Given the description of an element on the screen output the (x, y) to click on. 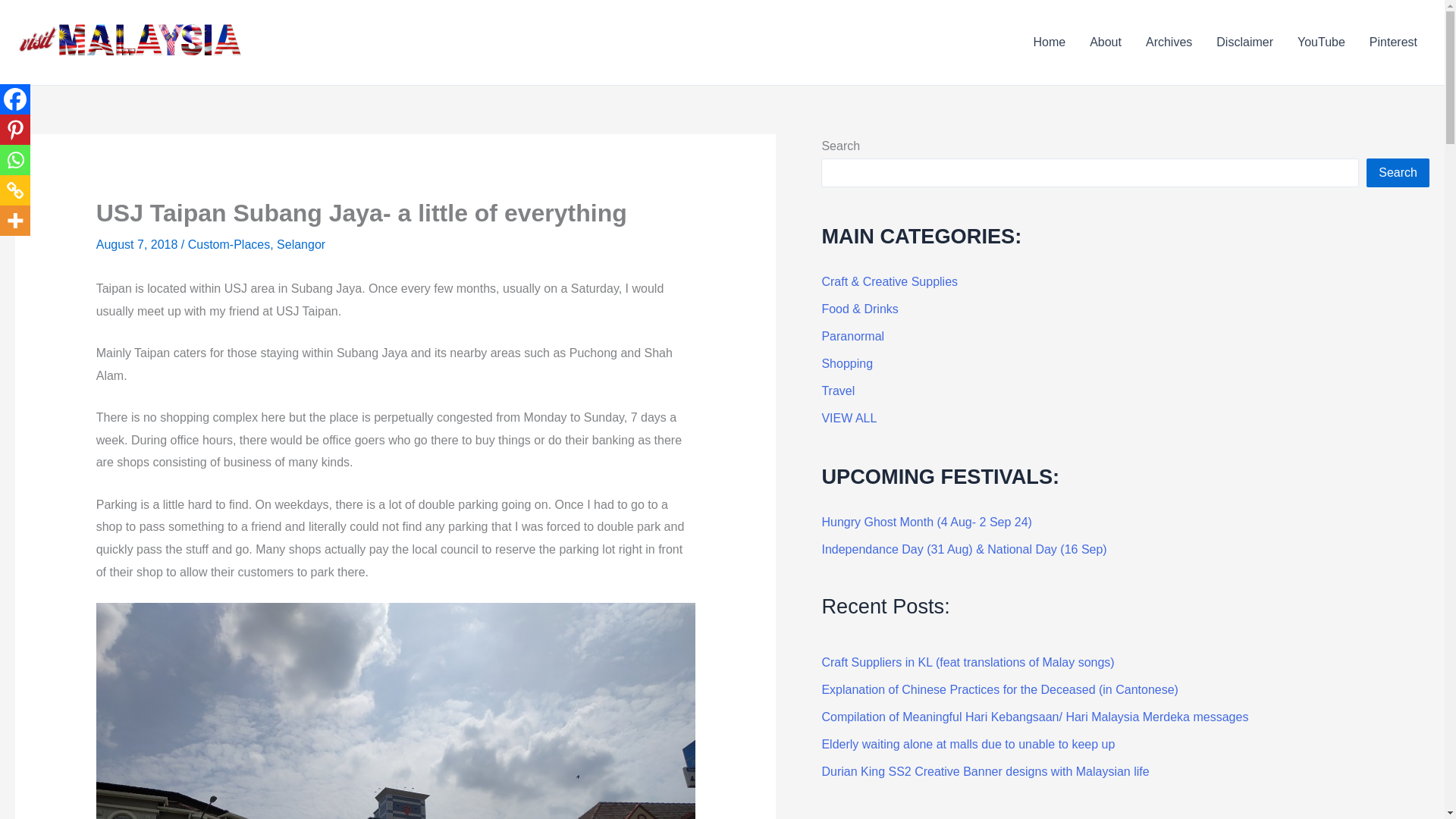
Custom-Places (228, 244)
About (1105, 42)
Home (1048, 42)
Facebook (15, 99)
Pinterest (1392, 42)
YouTube (1320, 42)
Pinterest (15, 129)
Selangor (300, 244)
More (15, 220)
Copy Link (15, 190)
